Given the description of an element on the screen output the (x, y) to click on. 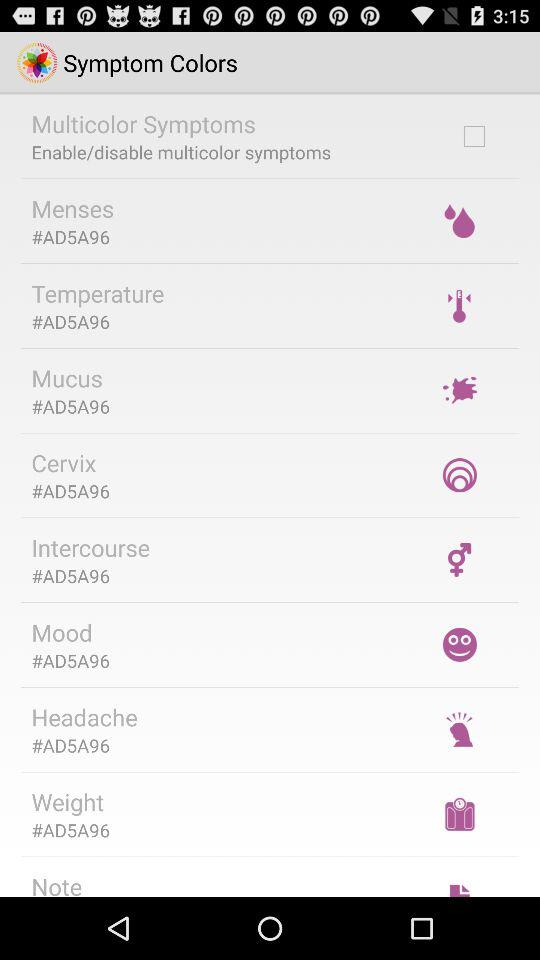
press the icon below the enable disable multicolor item (72, 208)
